Given the description of an element on the screen output the (x, y) to click on. 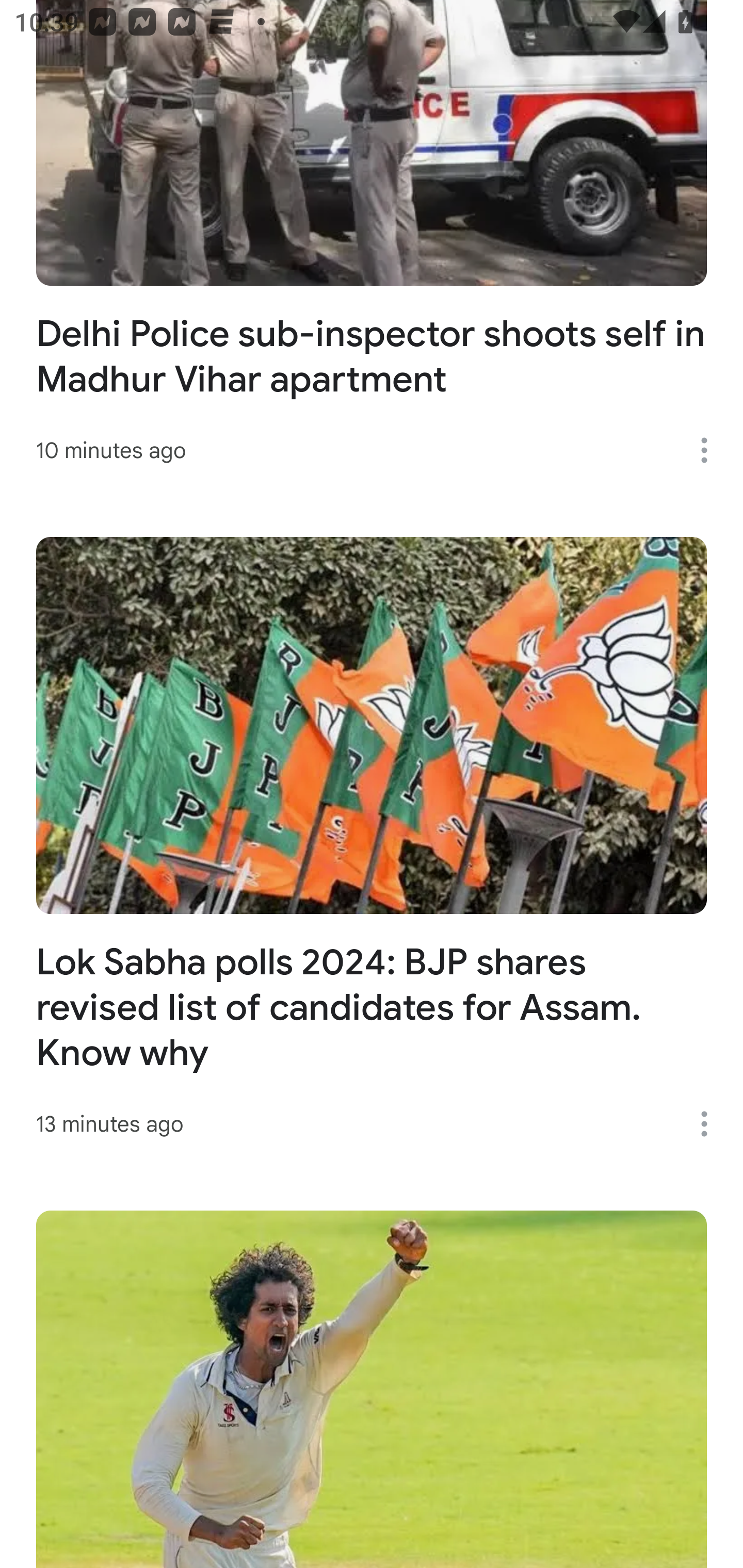
More options (711, 449)
More options (711, 1124)
